Given the description of an element on the screen output the (x, y) to click on. 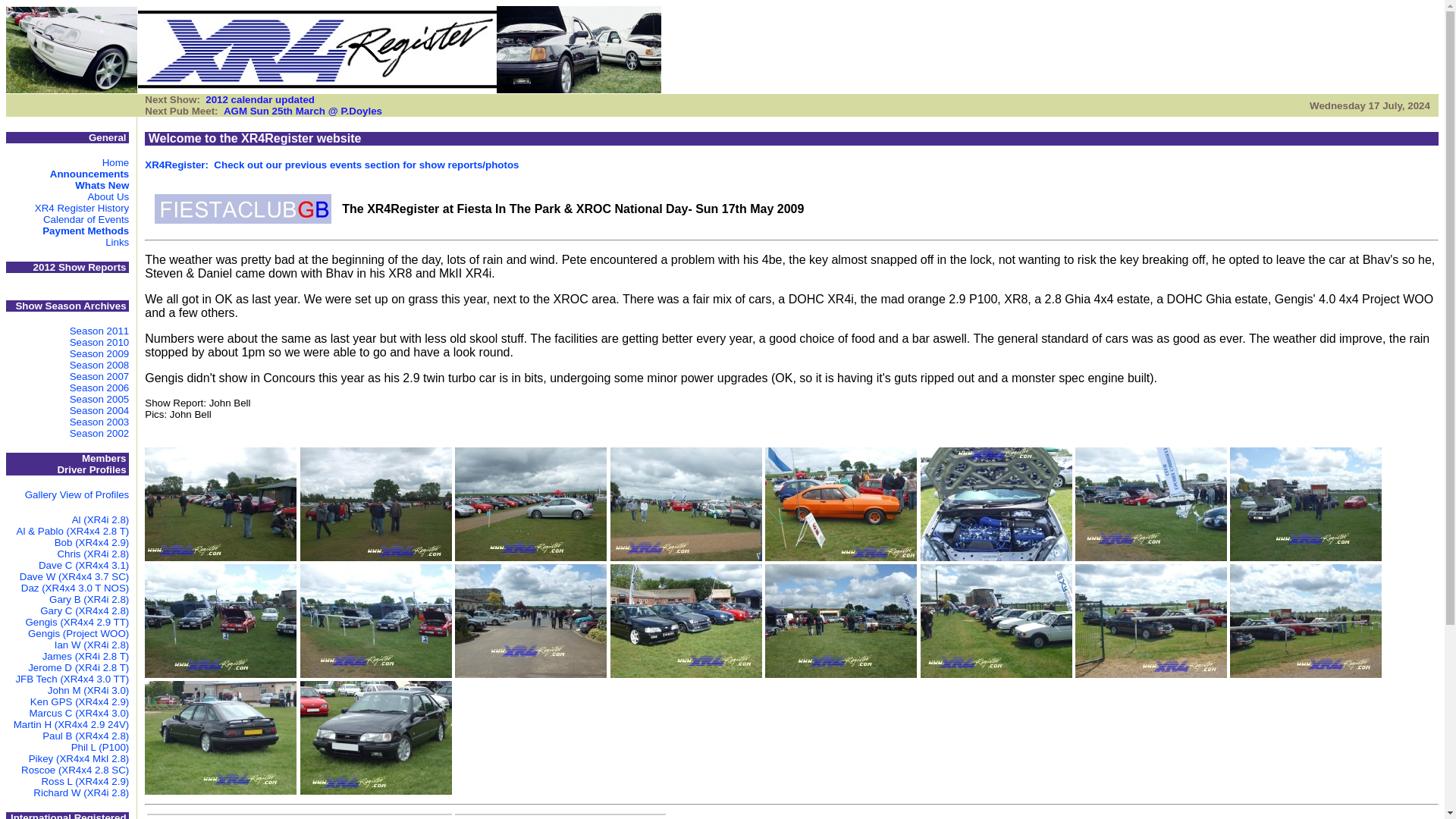
Season 2005 (99, 398)
XR4 Register History (81, 207)
Calendar of Events (86, 219)
Links (116, 242)
2012 calendar updated (259, 99)
Season 2007 (99, 376)
Season 2010 (99, 342)
Whats New (102, 184)
Announcements (89, 173)
Season 2006 (99, 387)
Home (115, 162)
Payment Methods (85, 230)
About Us (108, 196)
Season 2009 (99, 353)
Season 2003 (99, 421)
